Given the description of an element on the screen output the (x, y) to click on. 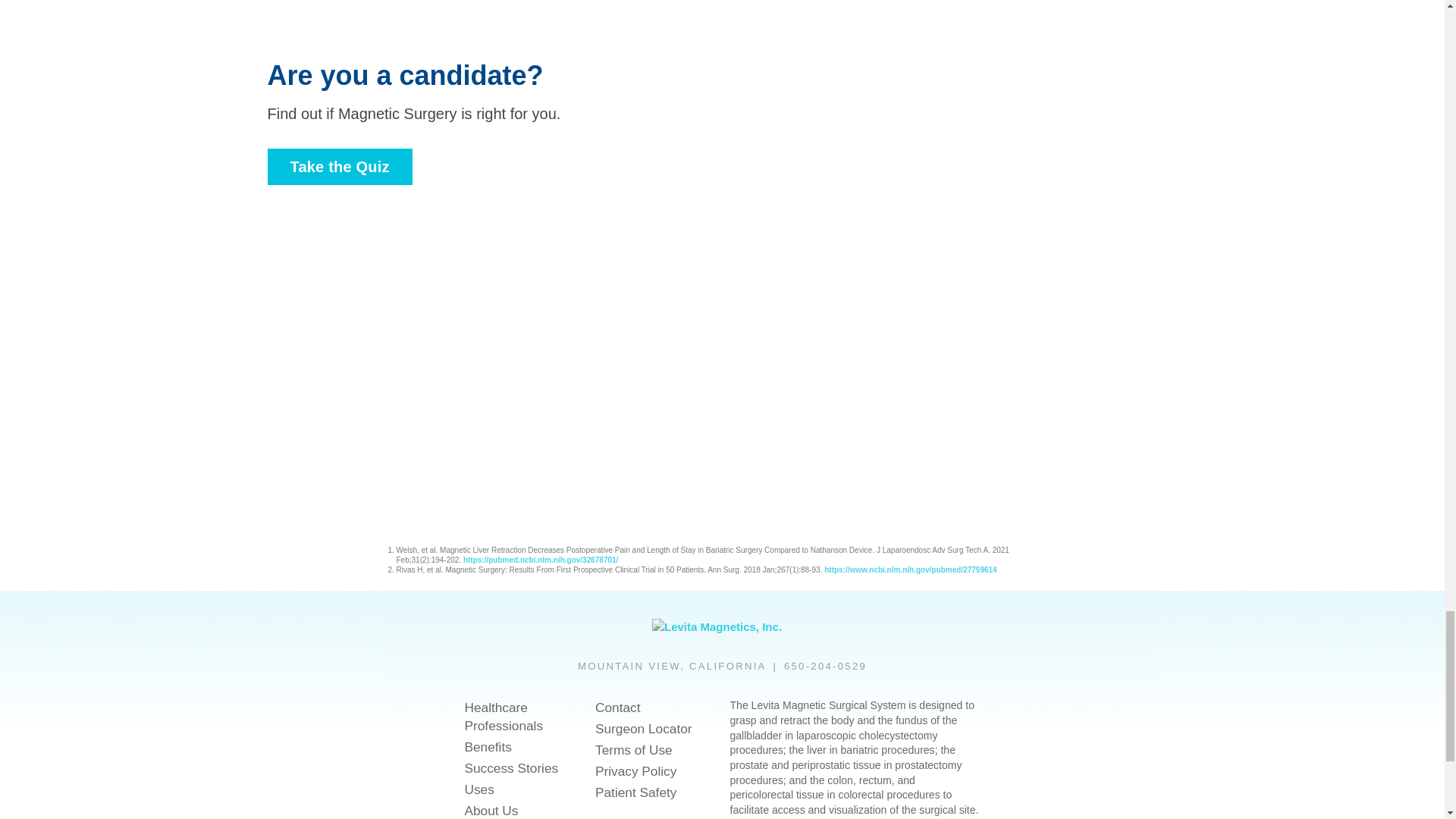
Take the Quiz (339, 166)
